Given the description of an element on the screen output the (x, y) to click on. 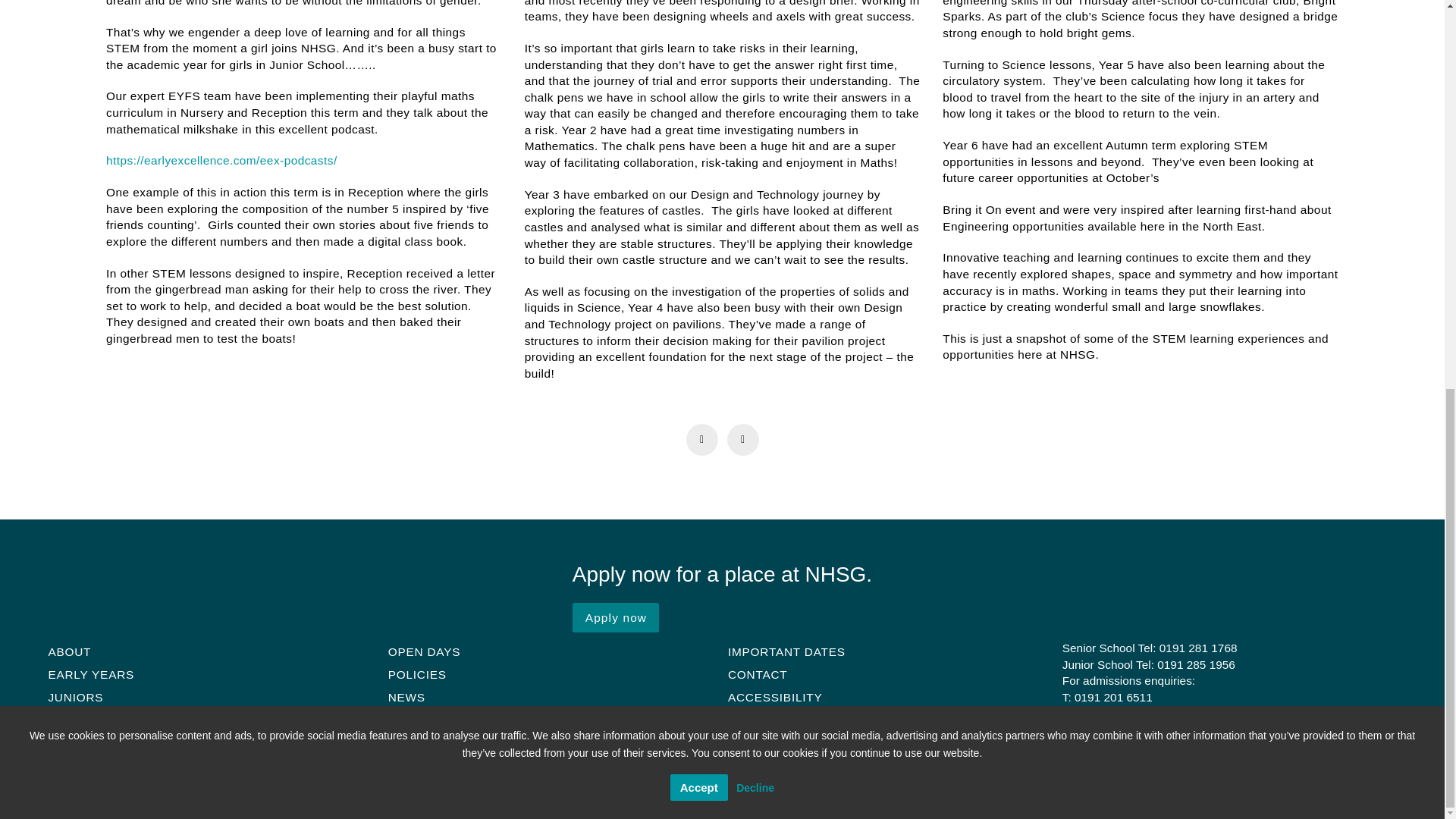
EARLY YEARS (90, 673)
ABOUT (69, 650)
Apply now (615, 617)
ALUMNAE (416, 720)
VACANCIES (422, 765)
Next (742, 439)
SUPPORTING US (438, 743)
ACCESSIBILITY (774, 697)
PRIVACY POLICY (779, 720)
NEWS (405, 697)
